Given the description of an element on the screen output the (x, y) to click on. 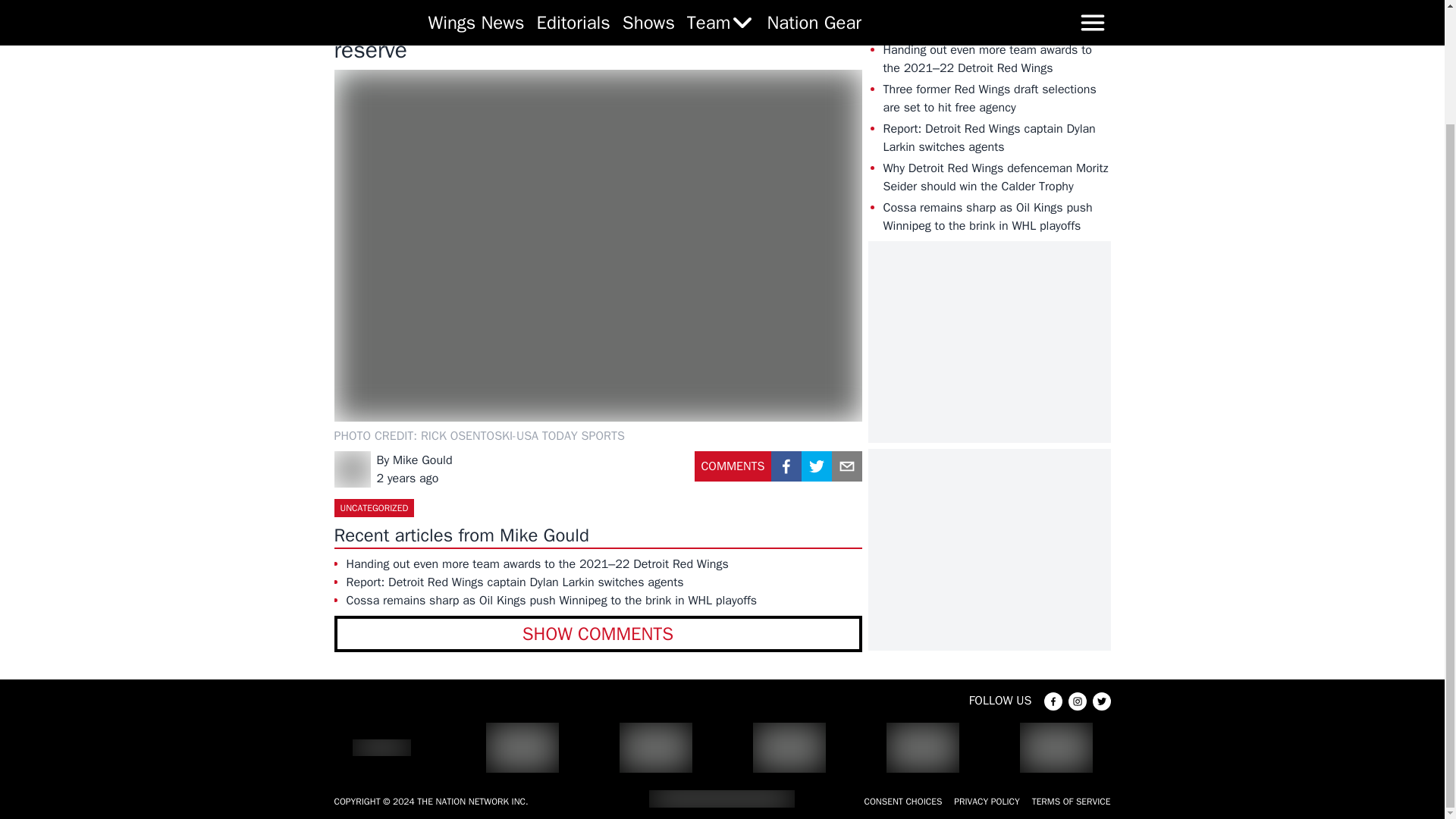
SHOW COMMENTS (597, 633)
SHOW COMMENTS (597, 633)
COMMENTS (732, 471)
Mike Gould (422, 459)
UNCATEGORIZED (373, 507)
